Given the description of an element on the screen output the (x, y) to click on. 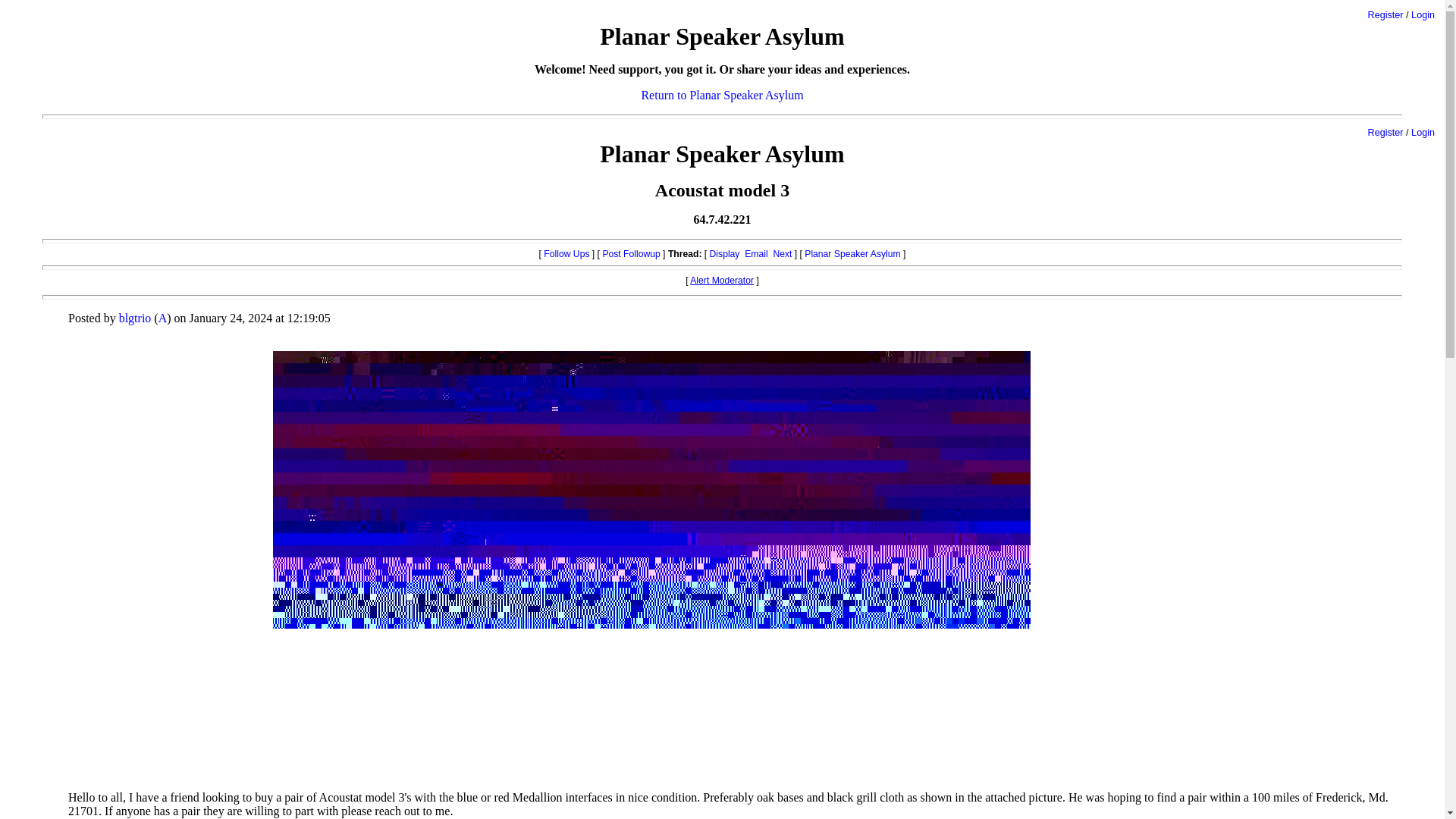
Register (1385, 14)
Next (782, 253)
Email (755, 253)
blgtrio (135, 318)
Planar Speaker Asylum (852, 253)
Login (1422, 14)
Post Followup (630, 253)
Return to Planar Speaker Asylum (721, 94)
Advertisement (1339, 408)
Register (1385, 132)
